Given the description of an element on the screen output the (x, y) to click on. 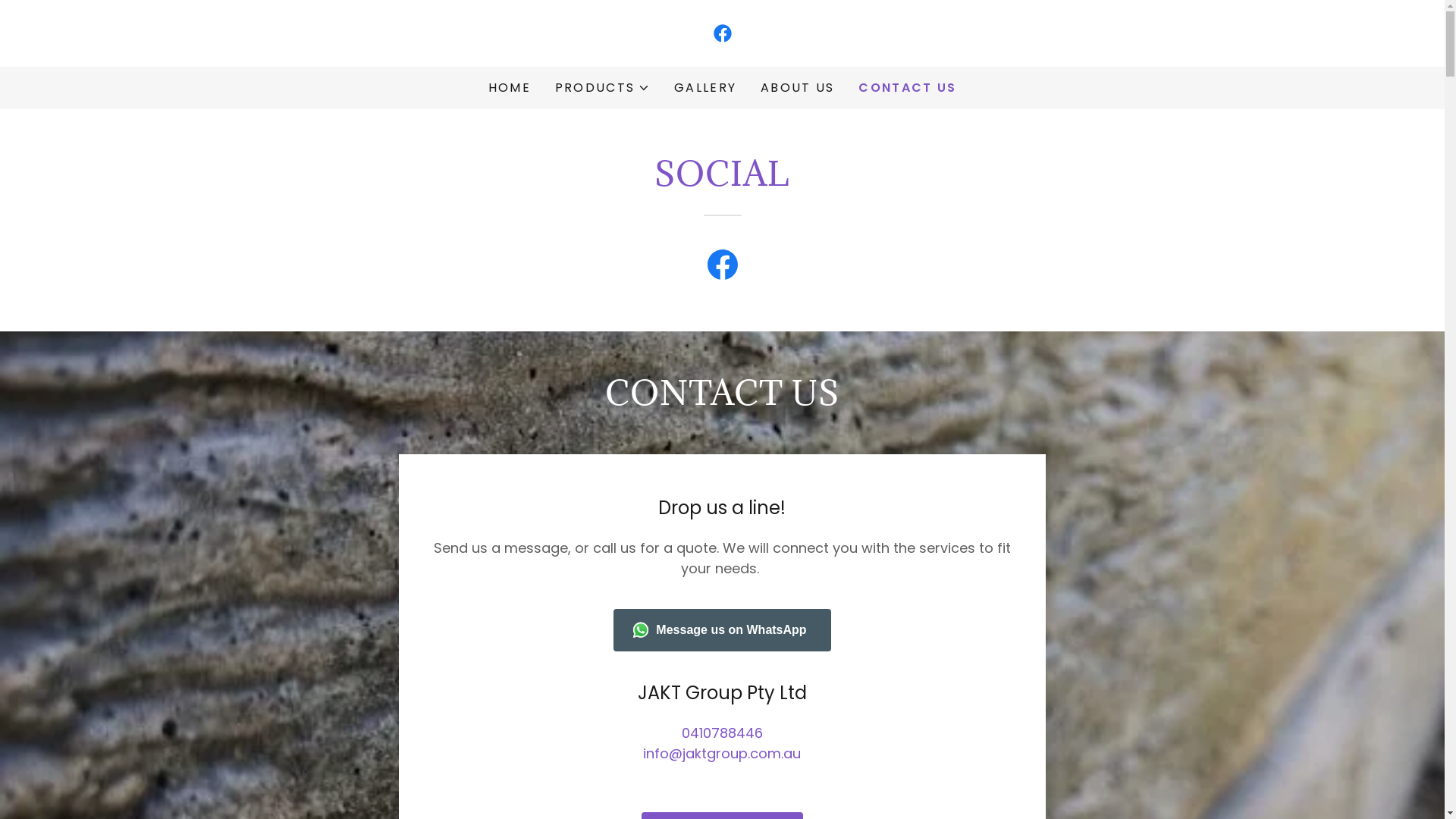
0410788446 Element type: text (721, 732)
info@jaktgroup.com.au Element type: text (721, 752)
CONTACT US Element type: text (907, 87)
HOME Element type: text (509, 87)
Message us on WhatsApp Element type: text (721, 629)
GALLERY Element type: text (704, 87)
PRODUCTS Element type: text (602, 87)
ABOUT US Element type: text (797, 87)
